Given the description of an element on the screen output the (x, y) to click on. 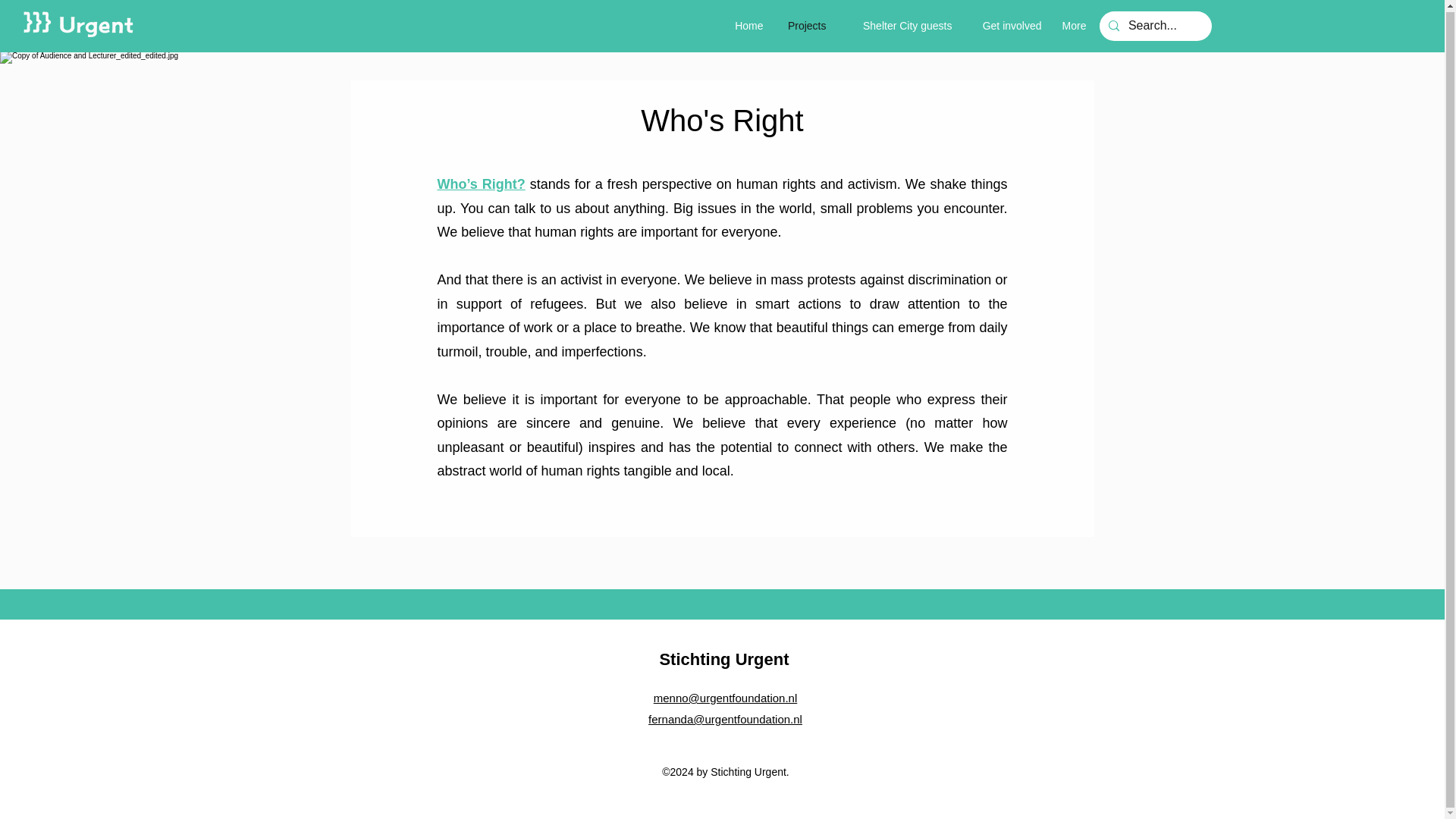
Projects (801, 25)
Home (746, 25)
